Given the description of an element on the screen output the (x, y) to click on. 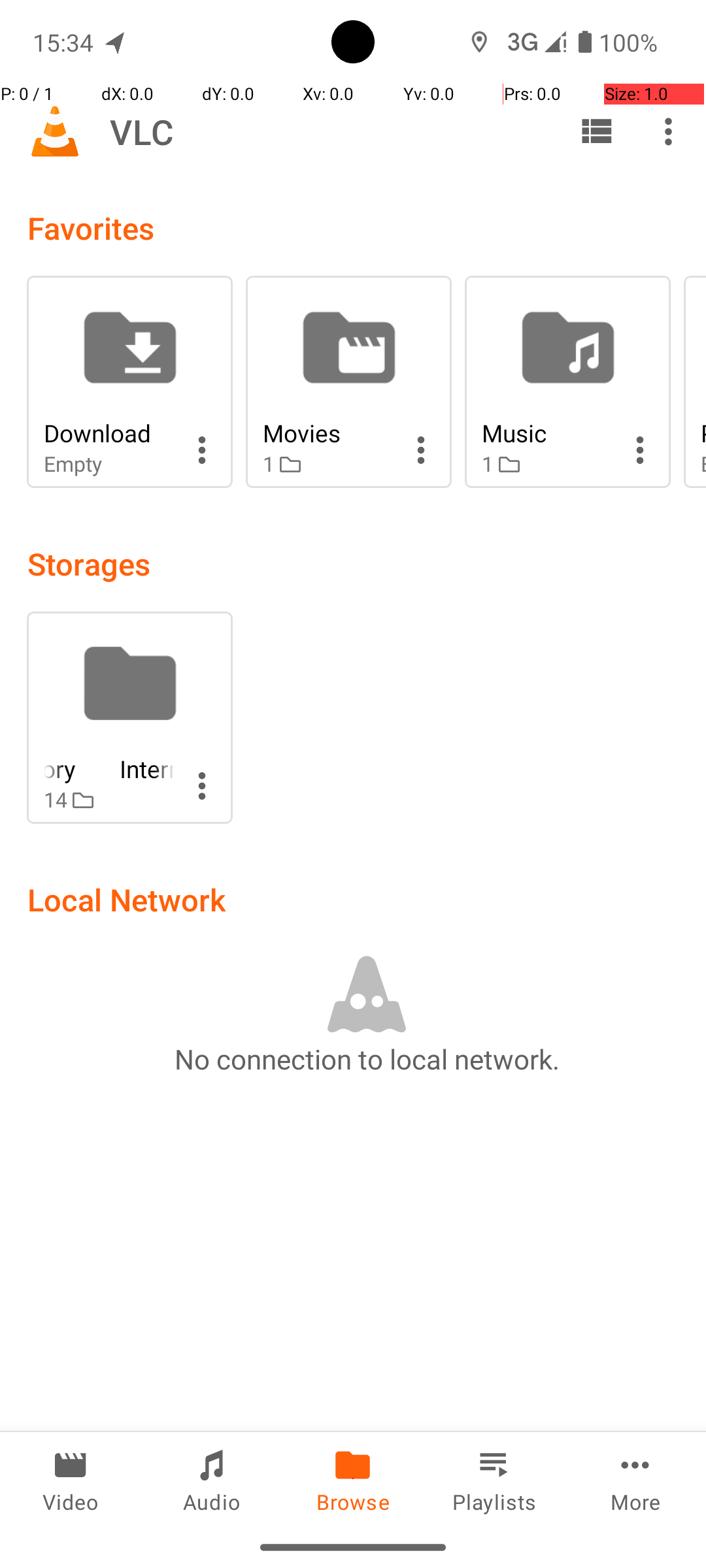
Display in list Element type: android.widget.TextView (595, 131)
Storages Element type: android.widget.TextView (88, 563)
Local Network Element type: android.widget.TextView (126, 898)
No connection to local network. Element type: android.widget.TextView (366, 1058)
Favorite: Download, Empty Element type: androidx.cardview.widget.CardView (129, 381)
Favorite: Movies, 1 subfolder Element type: androidx.cardview.widget.CardView (348, 381)
Favorite: Music, 1 subfolder Element type: androidx.cardview.widget.CardView (567, 381)
Favorite: Podcasts, Empty Element type: androidx.cardview.widget.CardView (694, 381)
Folder: Internal memory, 14 subfolders Element type: androidx.cardview.widget.CardView (129, 717)
Empty Element type: android.widget.TextView (108, 463)
More Actions Element type: android.widget.ImageView (201, 449)
Movies Element type: android.widget.TextView (327, 432)
1 §*§ Element type: android.widget.TextView (327, 463)
Podcasts Element type: android.widget.TextView (703, 432)
Internal memory Element type: android.widget.TextView (108, 768)
14 §*§ Element type: android.widget.TextView (108, 799)
